Given the description of an element on the screen output the (x, y) to click on. 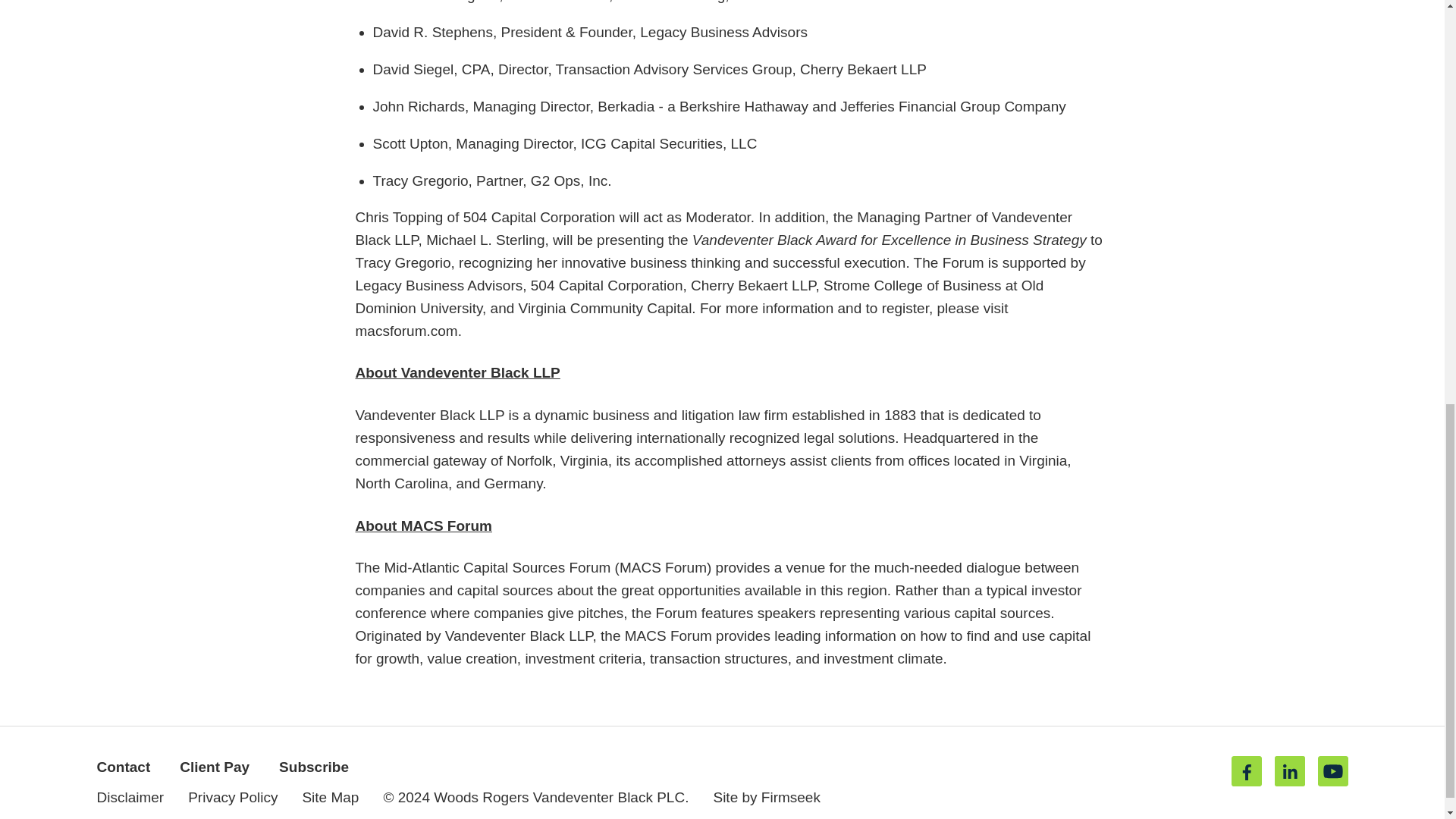
Client Pay (213, 766)
Contact (124, 766)
Subscribe (314, 766)
Jump to Page (673, 738)
Privacy Policy (232, 797)
Youtube (1332, 770)
Linkedin (1289, 770)
Disclaimer (130, 797)
Site Map (329, 797)
Facebook (1246, 770)
